Given the description of an element on the screen output the (x, y) to click on. 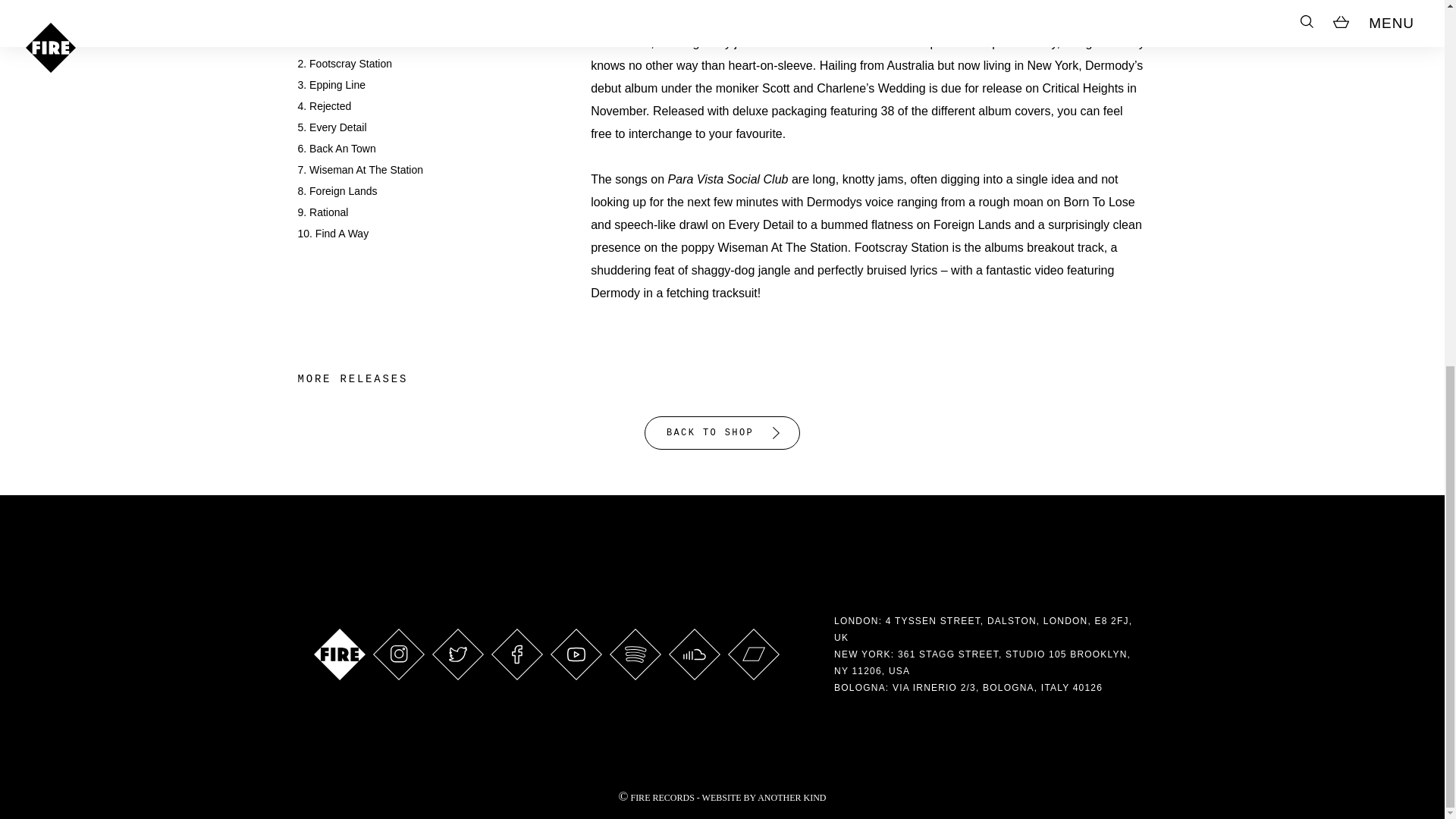
BACK TO SHOP (722, 432)
WEBSITE BY ANOTHER KIND (764, 797)
